Given the description of an element on the screen output the (x, y) to click on. 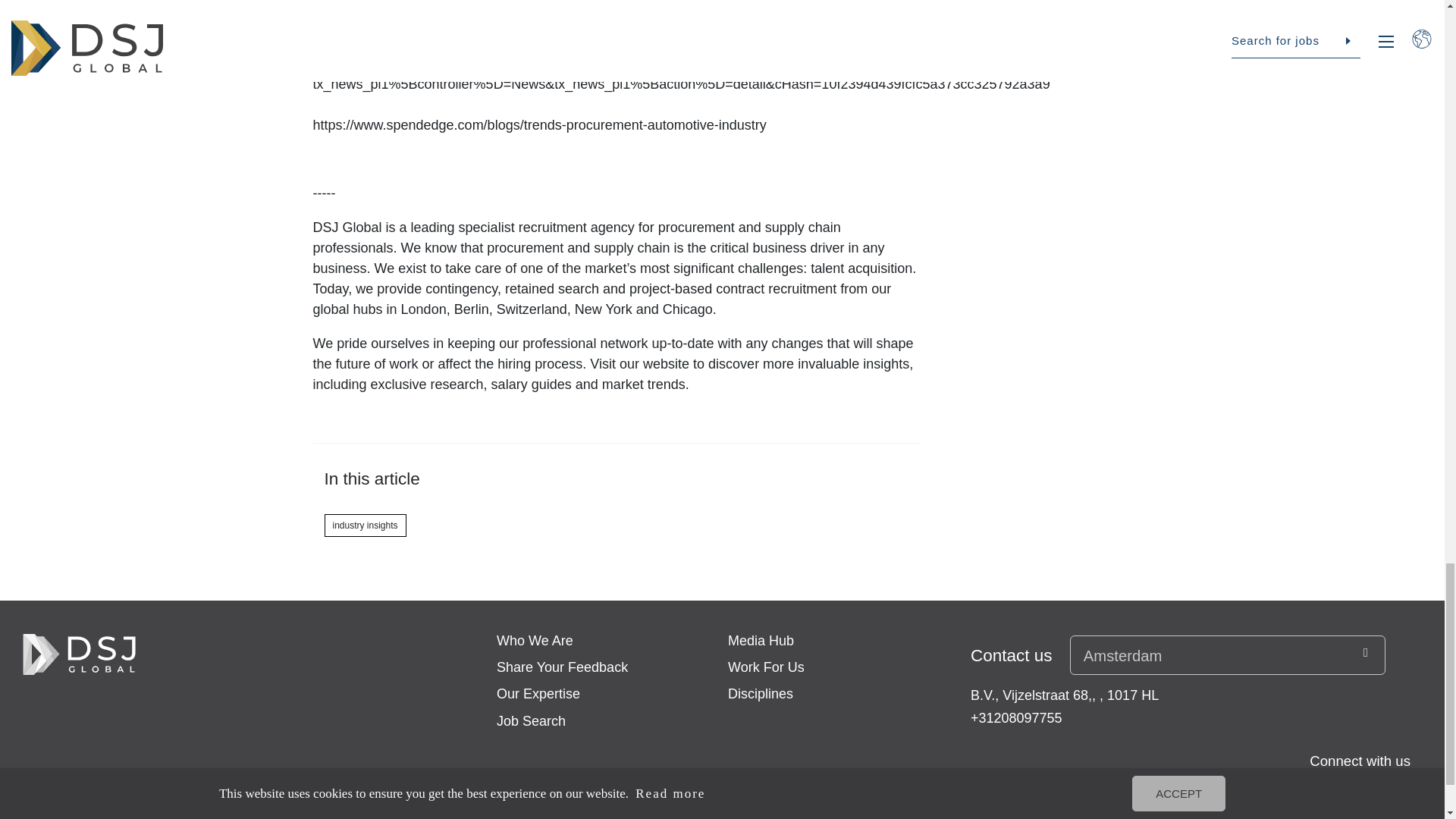
WeChat (1393, 799)
Go to the Homepage (79, 654)
Instagram (1324, 799)
YouTube (1359, 799)
Twitter (1291, 799)
Facebook (1222, 799)
LinkedIn (1256, 799)
